Given the description of an element on the screen output the (x, y) to click on. 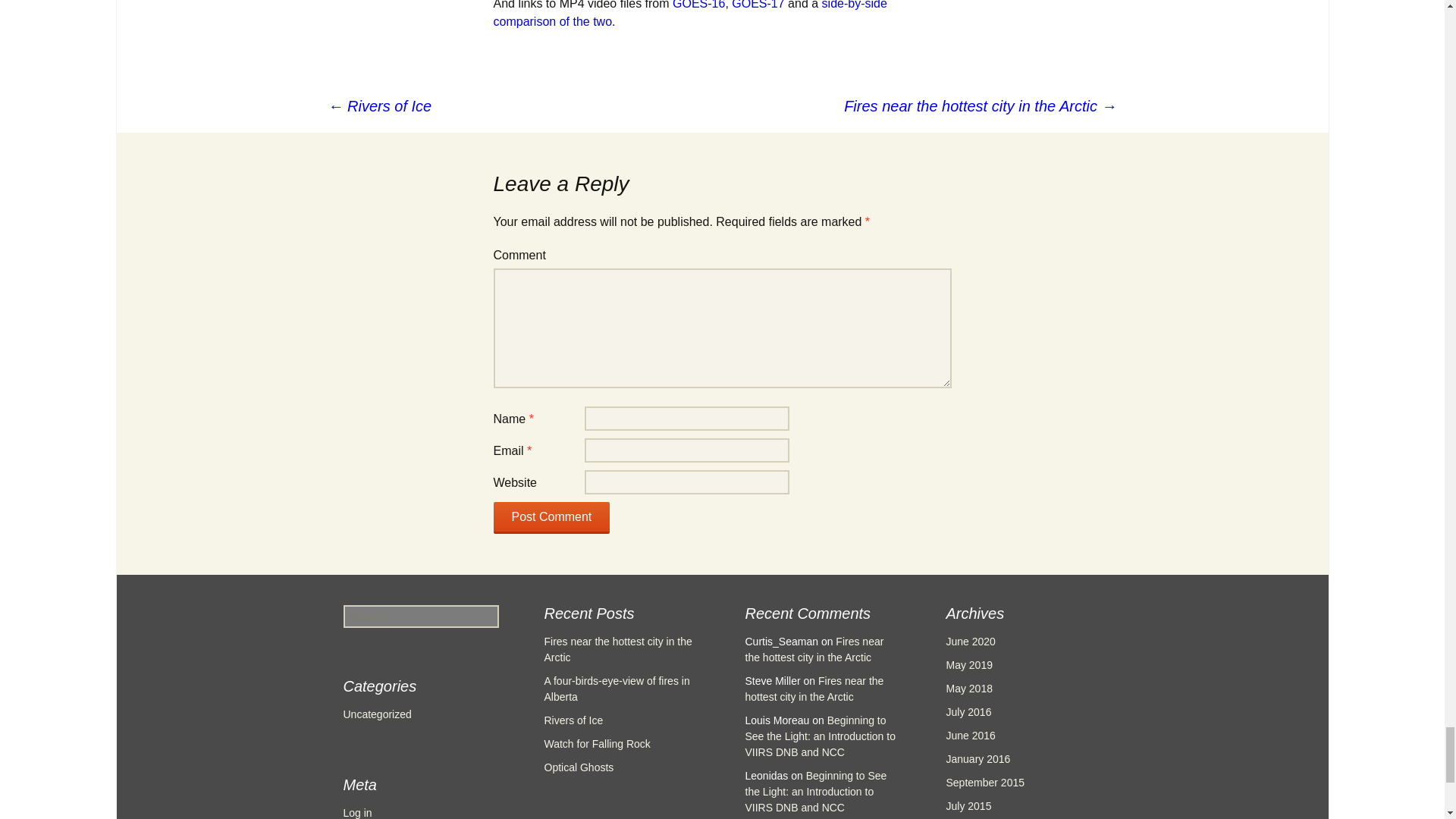
Post Comment (551, 517)
